Given the description of an element on the screen output the (x, y) to click on. 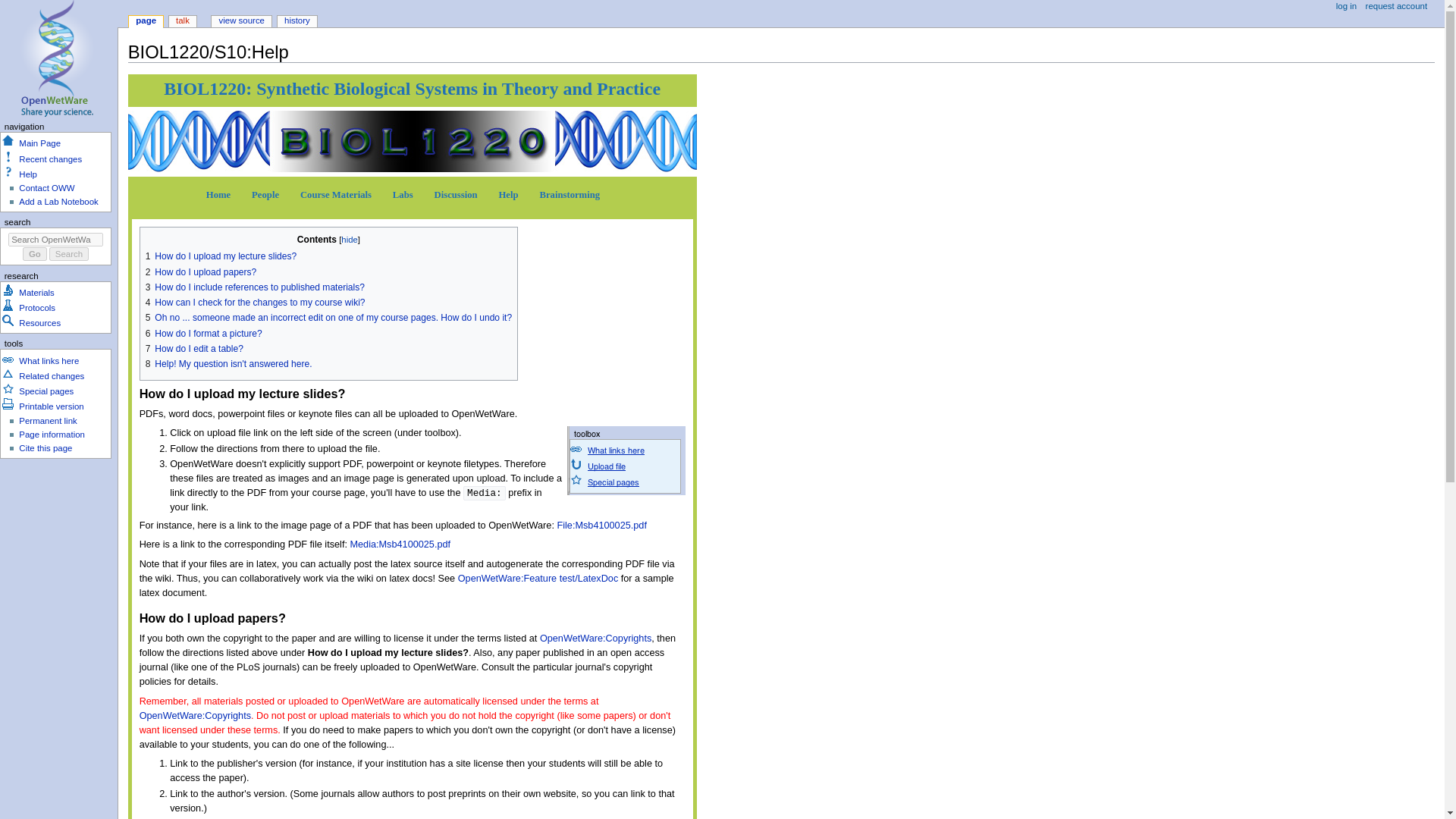
7 How do I edit a table? (194, 348)
OpenWetWare:Copyrights (194, 715)
Help (510, 194)
Home (219, 194)
view source (240, 21)
OpenWetWare:Copyrights (595, 638)
Search (68, 254)
Go (34, 254)
1 How do I upload my lecture slides? (221, 255)
4 How can I check for the changes to my course wiki? (255, 302)
Course Materials (336, 194)
People (266, 194)
talk (182, 21)
page (146, 21)
Labs (403, 194)
